Given the description of an element on the screen output the (x, y) to click on. 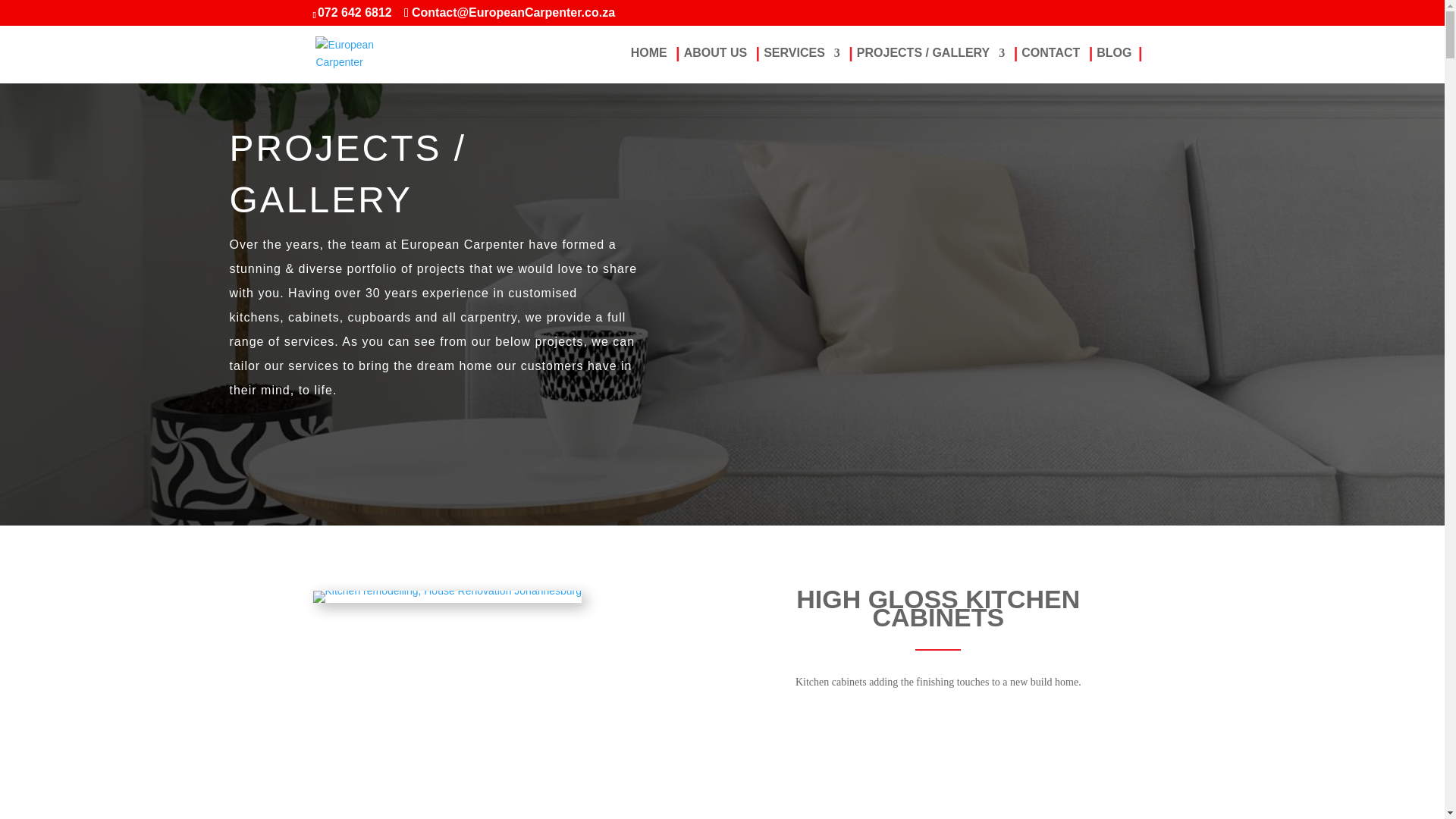
SERVICES (801, 65)
Kitchen remodelling, House Renovation Johannesburg (446, 596)
HOME (648, 65)
Kitchen remodelling, House Renovation Johannesburg (446, 590)
CONTACT (1051, 65)
072 642 6812 (354, 11)
BLOG (1113, 65)
ABOUT US (716, 65)
